Given the description of an element on the screen output the (x, y) to click on. 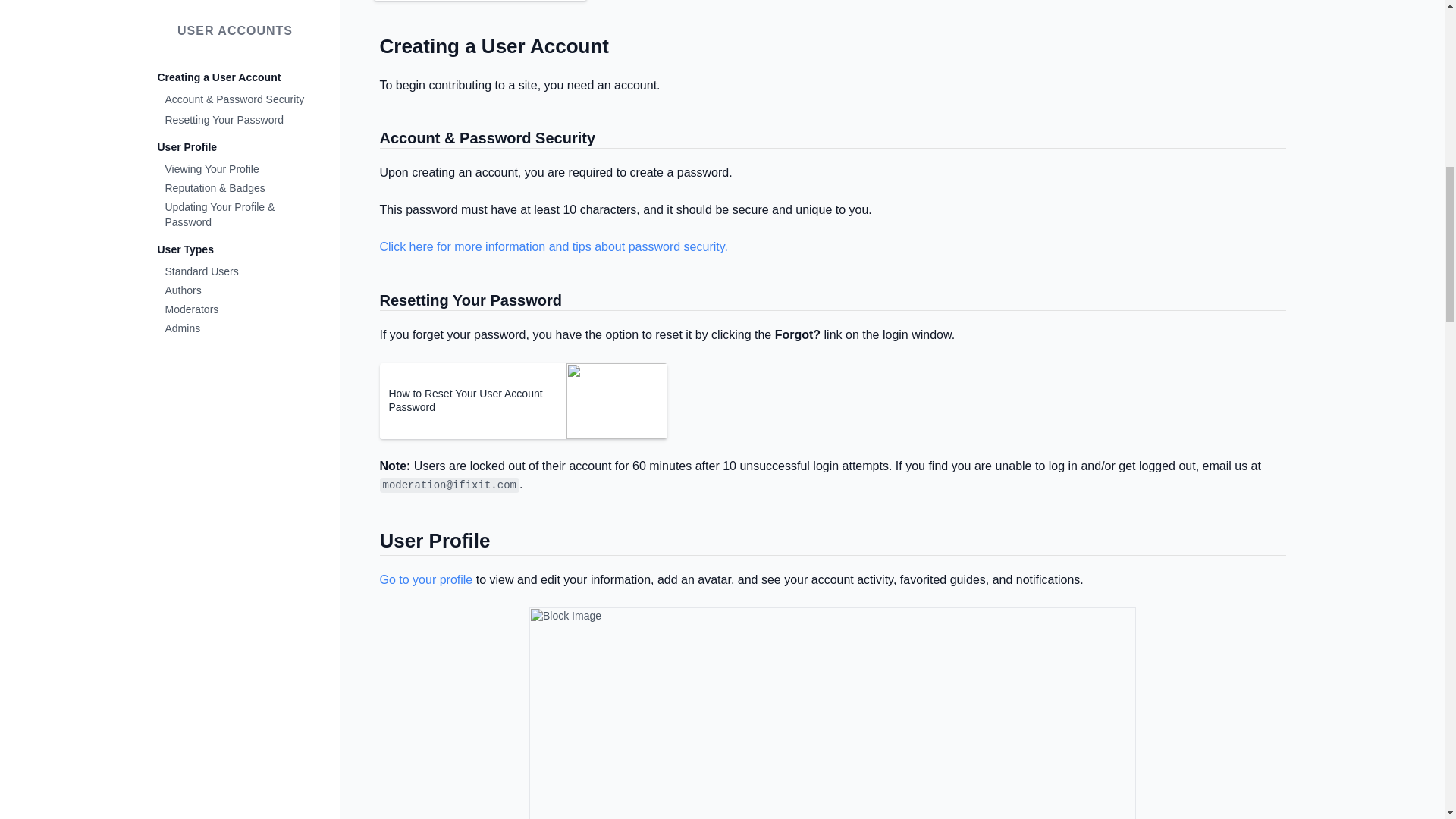
Link to this section (371, 48)
How to Reset Your User Account Password (472, 400)
Link to this section (371, 139)
Link to this section (371, 543)
Link to this section (371, 301)
